Given the description of an element on the screen output the (x, y) to click on. 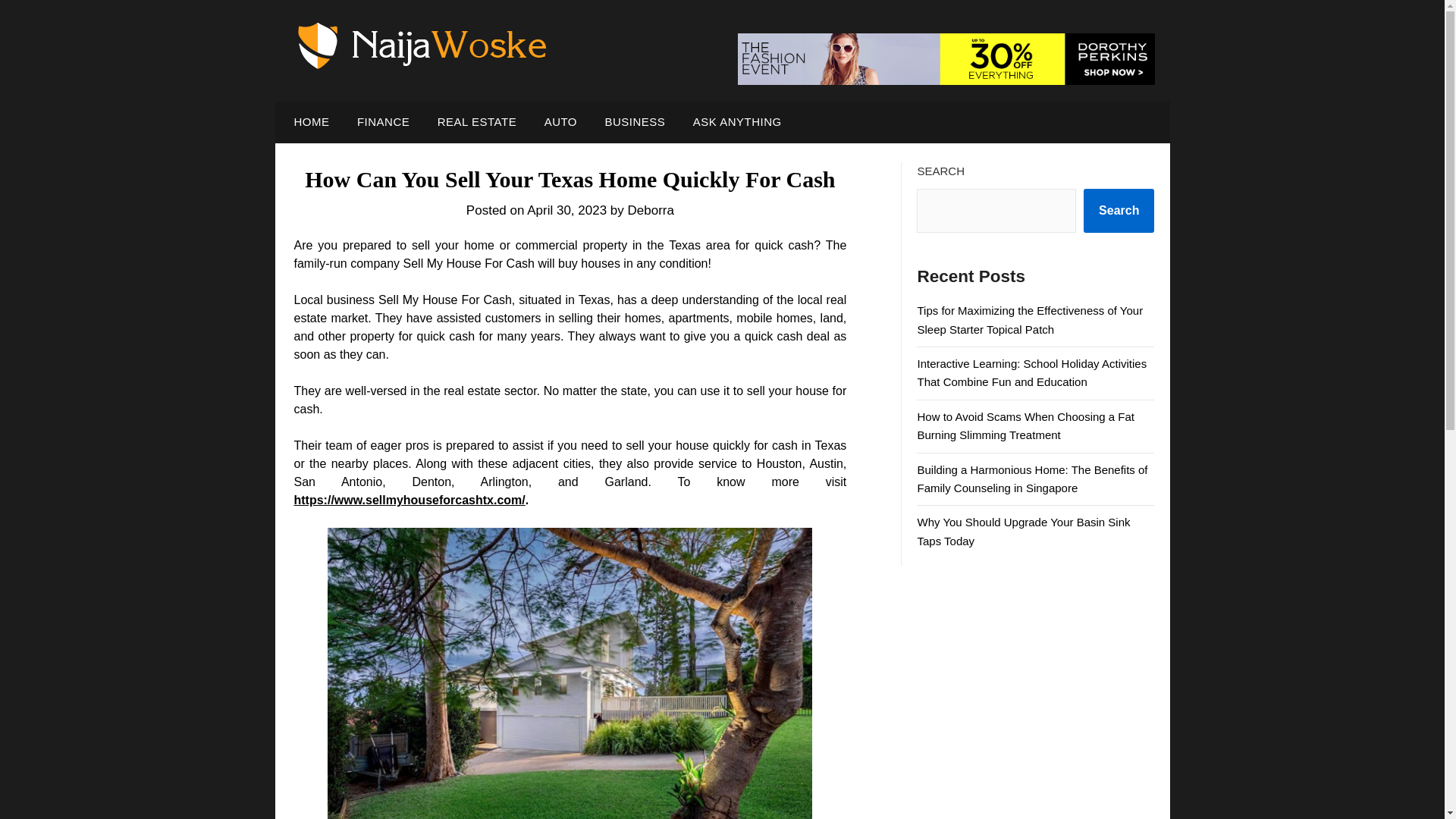
Why You Should Upgrade Your Basin Sink Taps Today (1023, 531)
REAL ESTATE (476, 121)
ASK ANYTHING (737, 121)
FINANCE (383, 121)
AUTO (560, 121)
HOME (307, 121)
BUSINESS (634, 121)
